Given the description of an element on the screen output the (x, y) to click on. 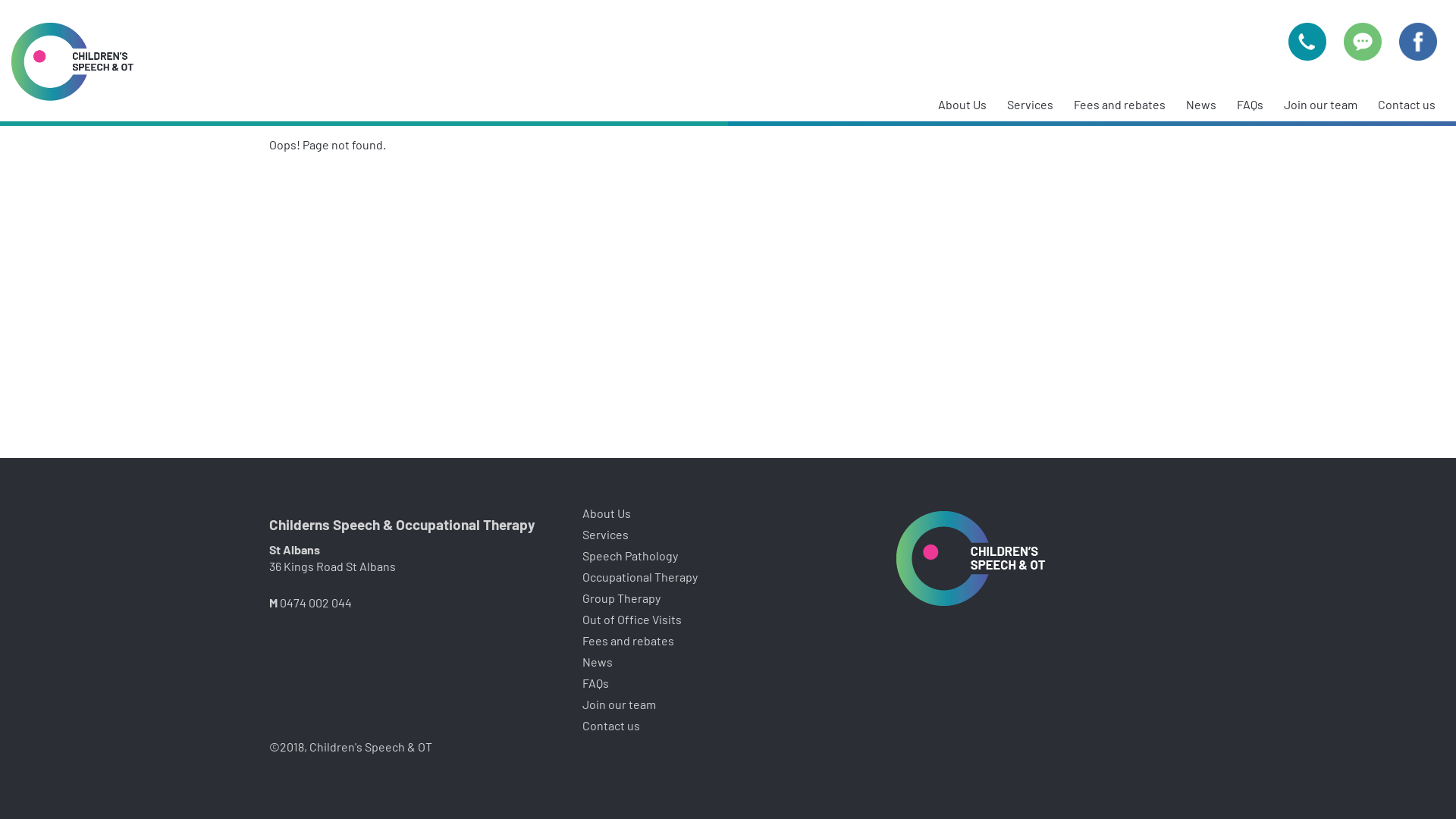
Out of Office Visits Element type: text (631, 620)
Services Element type: text (1030, 105)
News Element type: text (597, 662)
Fees and rebates Element type: text (628, 641)
FAQs Element type: text (1249, 105)
About Us Element type: text (962, 105)
Group Therapy Element type: text (621, 599)
Join our team Element type: text (1320, 105)
News Element type: text (1201, 105)
Join our team Element type: text (618, 705)
Fees and rebates Element type: text (1119, 105)
Occupational Therapy Element type: text (639, 577)
About Us Element type: text (606, 514)
Contact us Element type: text (611, 726)
Services Element type: text (605, 535)
Speech Pathology Element type: text (629, 556)
FAQs Element type: text (595, 683)
Contact us Element type: text (1406, 105)
